Given the description of an element on the screen output the (x, y) to click on. 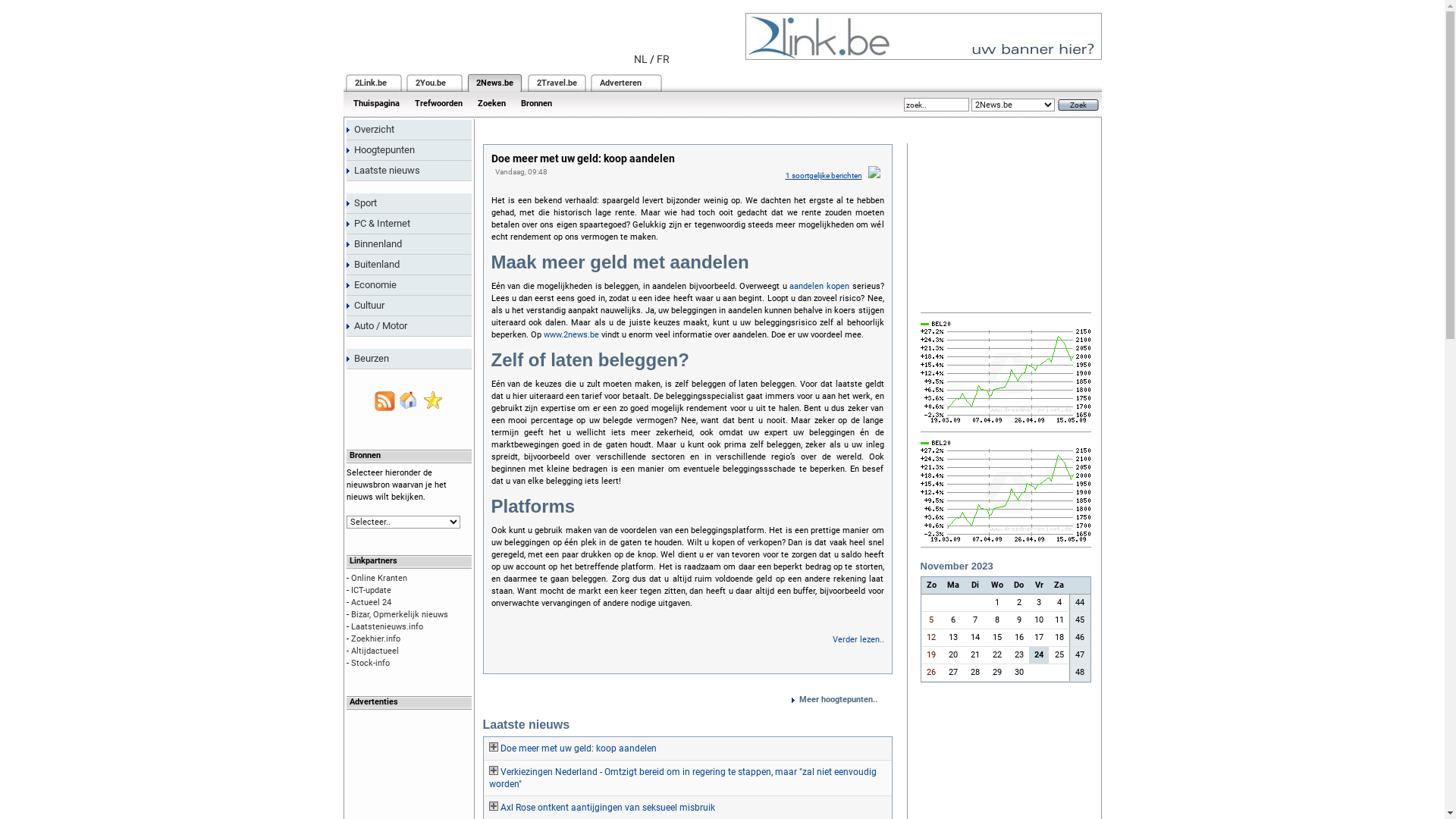
Sport Element type: text (407, 203)
FR Element type: text (662, 59)
Hoogtepunten Element type: text (407, 150)
www.2news.be Element type: text (570, 334)
Auto / Motor Element type: text (407, 326)
aandelen kopen Element type: text (819, 286)
Altijdactueel Element type: text (374, 650)
Overzicht Element type: text (407, 129)
Doe meer met uw geld: koop aandelen Element type: text (687, 748)
Zoek Element type: text (1077, 103)
Laatste nieuws Element type: text (407, 170)
ICT-update Element type: text (370, 590)
2Travel.be Element type: text (556, 82)
Cultuur Element type: text (407, 305)
2You.be Element type: text (430, 82)
Bronnen Element type: text (535, 103)
Economie Element type: text (407, 285)
2News.be Element type: text (494, 82)
Actueel 24 Element type: text (370, 602)
Buitenland Element type: text (407, 264)
Bizar, Opmerkelijk nieuws Element type: text (398, 614)
1 soortgelijke berichten Element type: text (823, 175)
Zoekhier.info Element type: text (374, 638)
PC & Internet Element type: text (407, 223)
NL Element type: text (640, 59)
Stock-info Element type: text (369, 663)
Meer hoogtepunten.. Element type: text (841, 699)
Thuispagina Element type: text (376, 103)
Online Kranten Element type: text (378, 578)
Adverteren Element type: text (619, 82)
Binnenland Element type: text (407, 244)
Laatstenieuws.info Element type: text (386, 626)
2Link.be Element type: text (370, 82)
Beurzen Element type: text (407, 358)
Zoeken Element type: text (491, 103)
Verder lezen.. Element type: text (858, 639)
Trefwoorden Element type: text (437, 103)
